Given the description of an element on the screen output the (x, y) to click on. 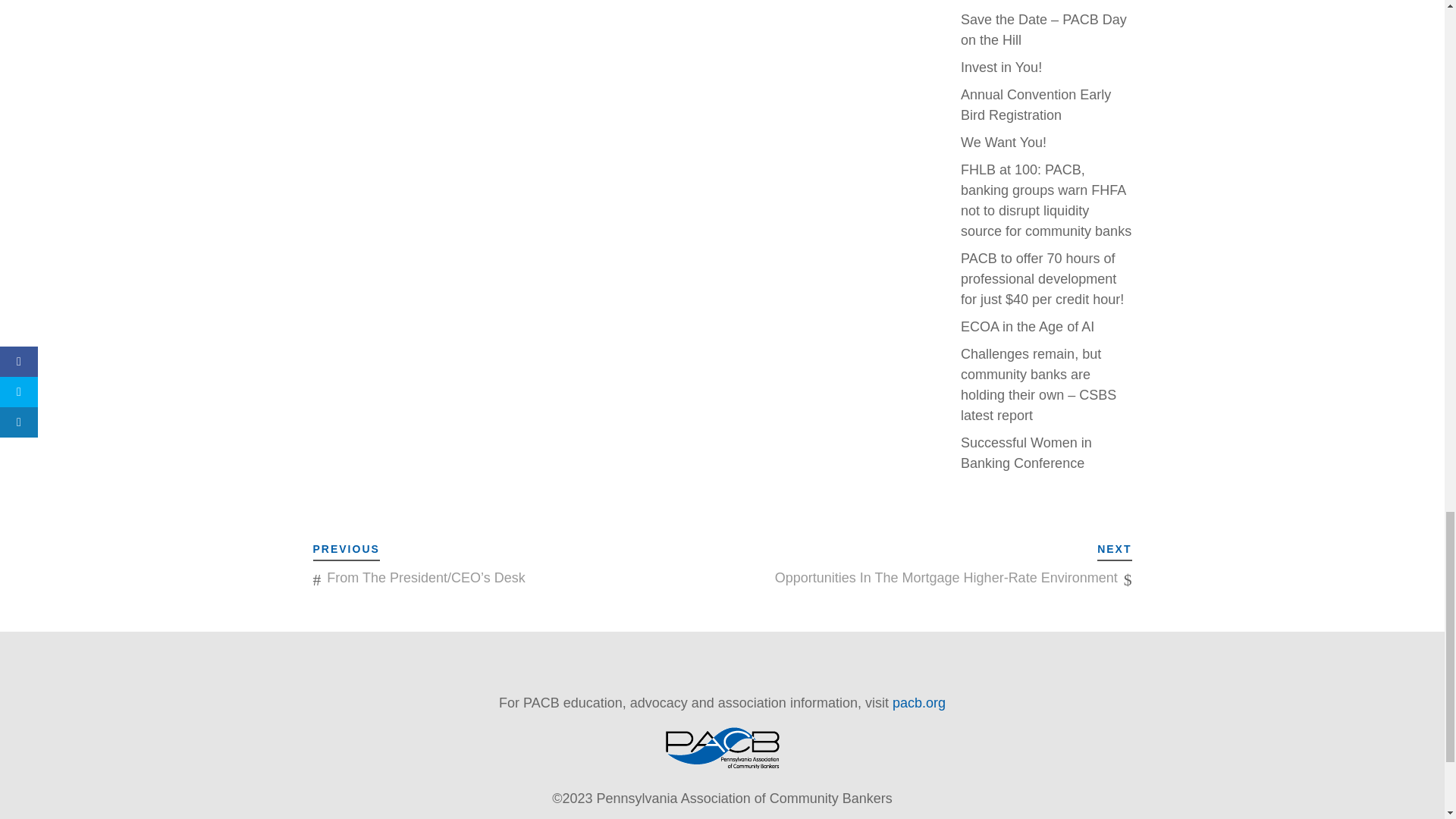
ECOA in the Age of AI (1027, 326)
pacb.org (918, 702)
Invest in You! (1001, 67)
We Want You! (1003, 142)
Annual Convention Early Bird Registration (1035, 104)
Successful Women in Banking Conference  (1026, 452)
Opportunities In The Mortgage Higher-Rate Environment (946, 577)
